Given the description of an element on the screen output the (x, y) to click on. 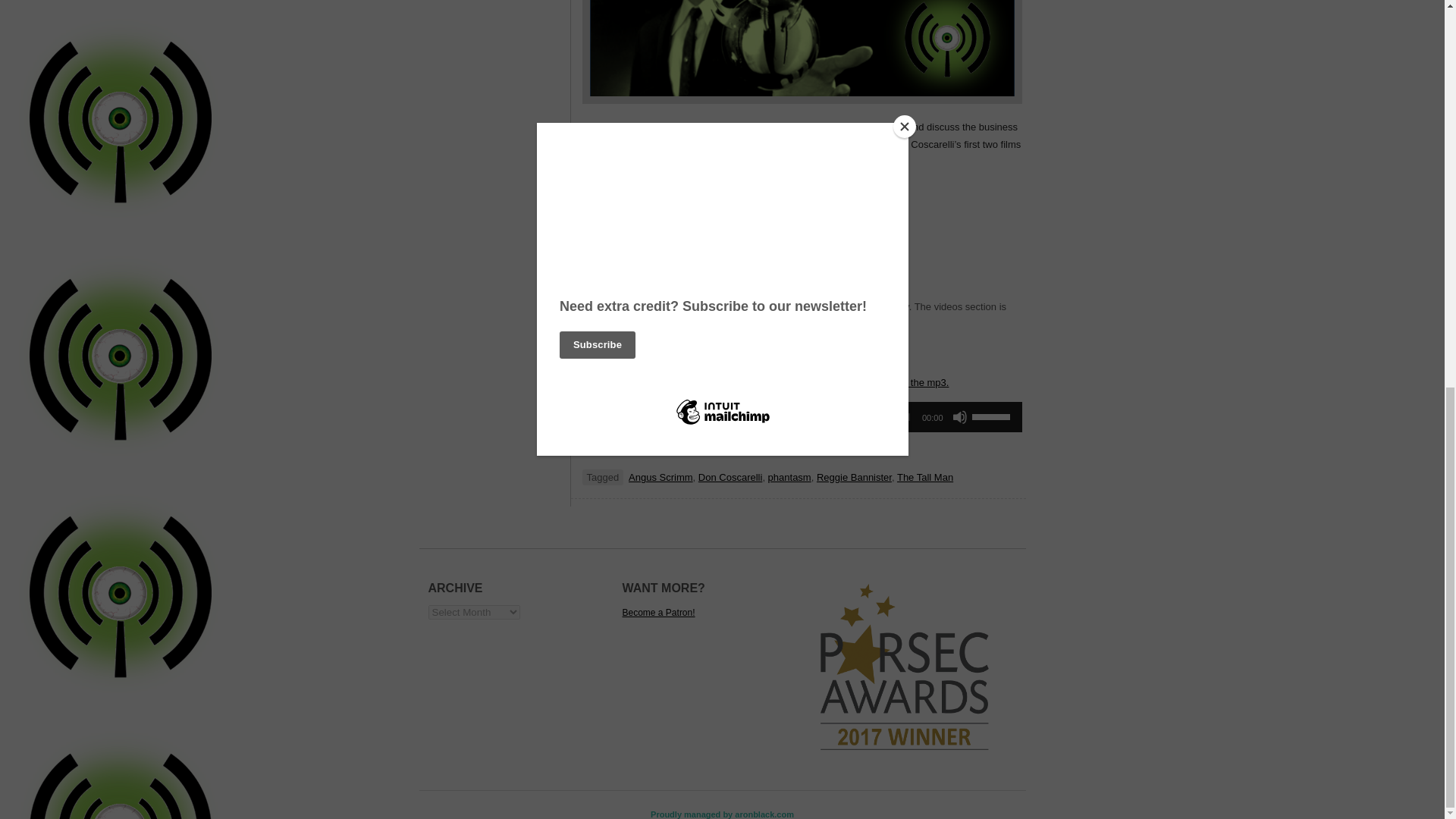
Play in new window (666, 449)
Download (739, 449)
Reggie Bannister (853, 477)
Angus Scrimm (660, 477)
Download (739, 449)
The Tall Man (924, 477)
Play (602, 417)
The Order of the Good Death (646, 306)
Become a Patron! (657, 612)
Mute (960, 417)
phantasm (789, 477)
Don Coscarelli (730, 477)
Play in new window (666, 449)
